Given the description of an element on the screen output the (x, y) to click on. 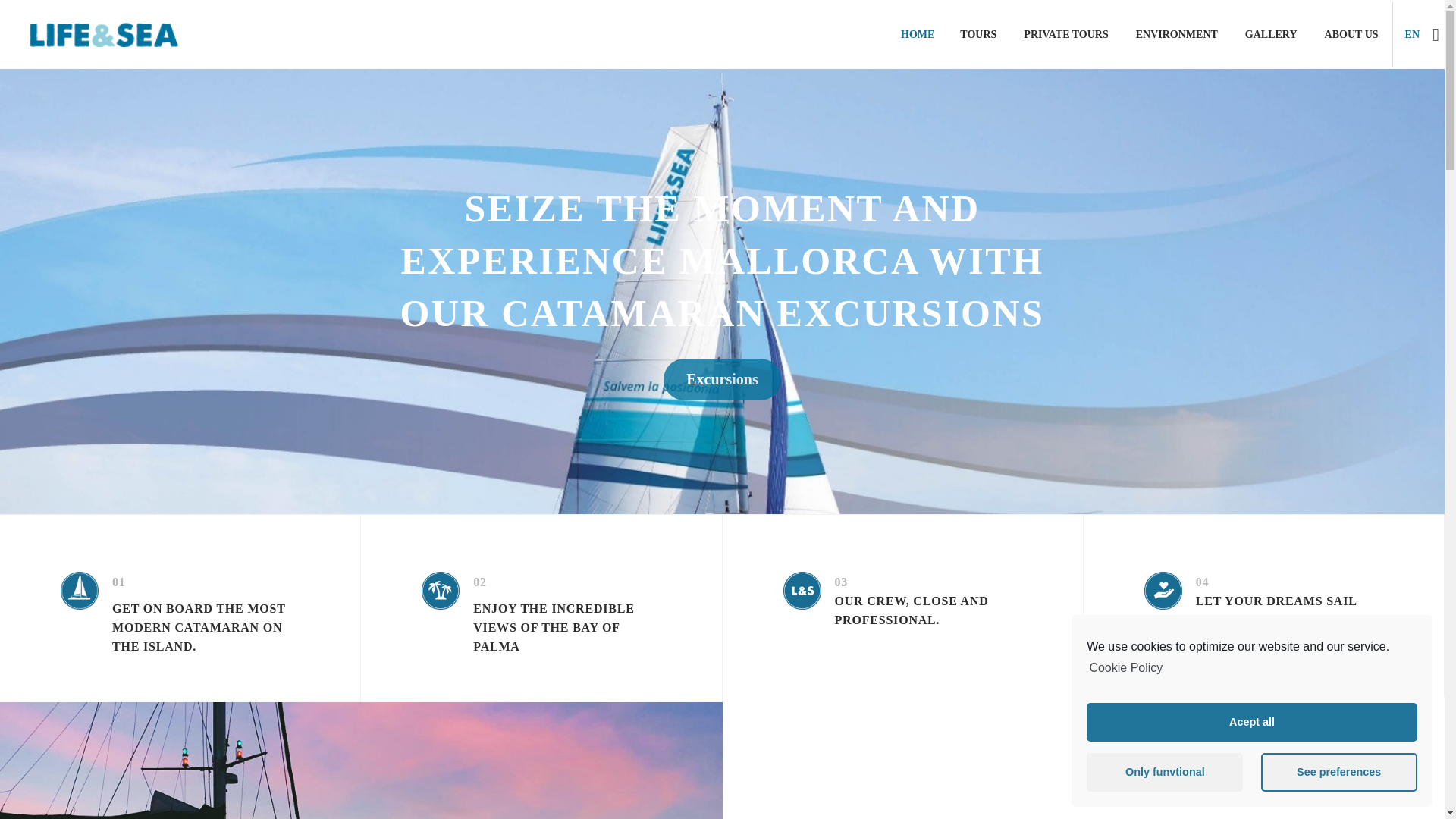
Acept all (1251, 722)
Cookie Policy (1123, 667)
Excursions (721, 379)
TOURS (978, 34)
PRIVATE TOURS (1065, 34)
Only funvtional (1164, 771)
GALLERY (1270, 34)
EN (1412, 34)
HOME (916, 34)
ABOUT US (1351, 34)
